Given the description of an element on the screen output the (x, y) to click on. 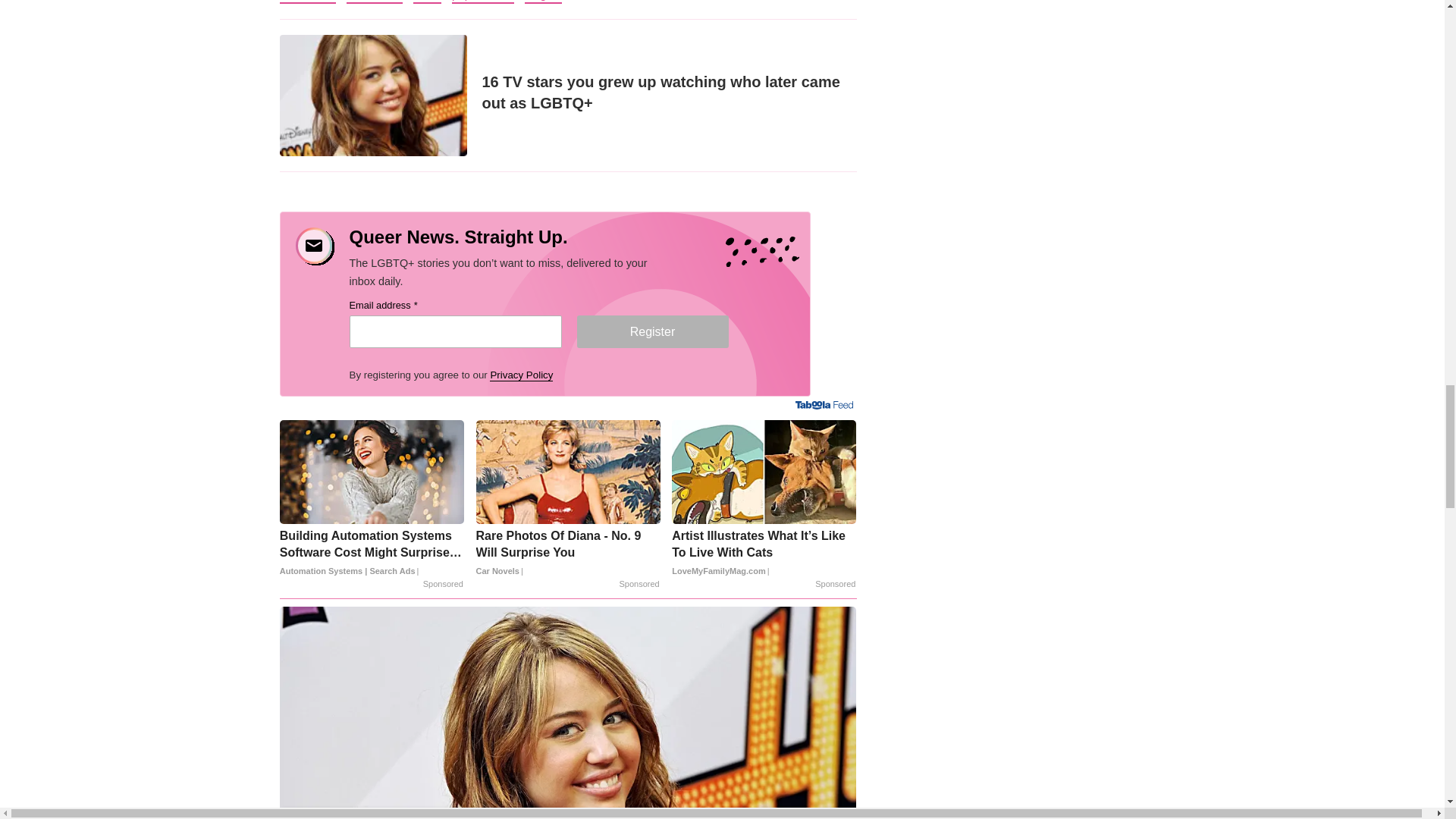
Rare Photos Of Diana - No. 9 Will Surprise You (568, 553)
Building Automation Systems Software Cost Might Surprise you (371, 553)
